Given the description of an element on the screen output the (x, y) to click on. 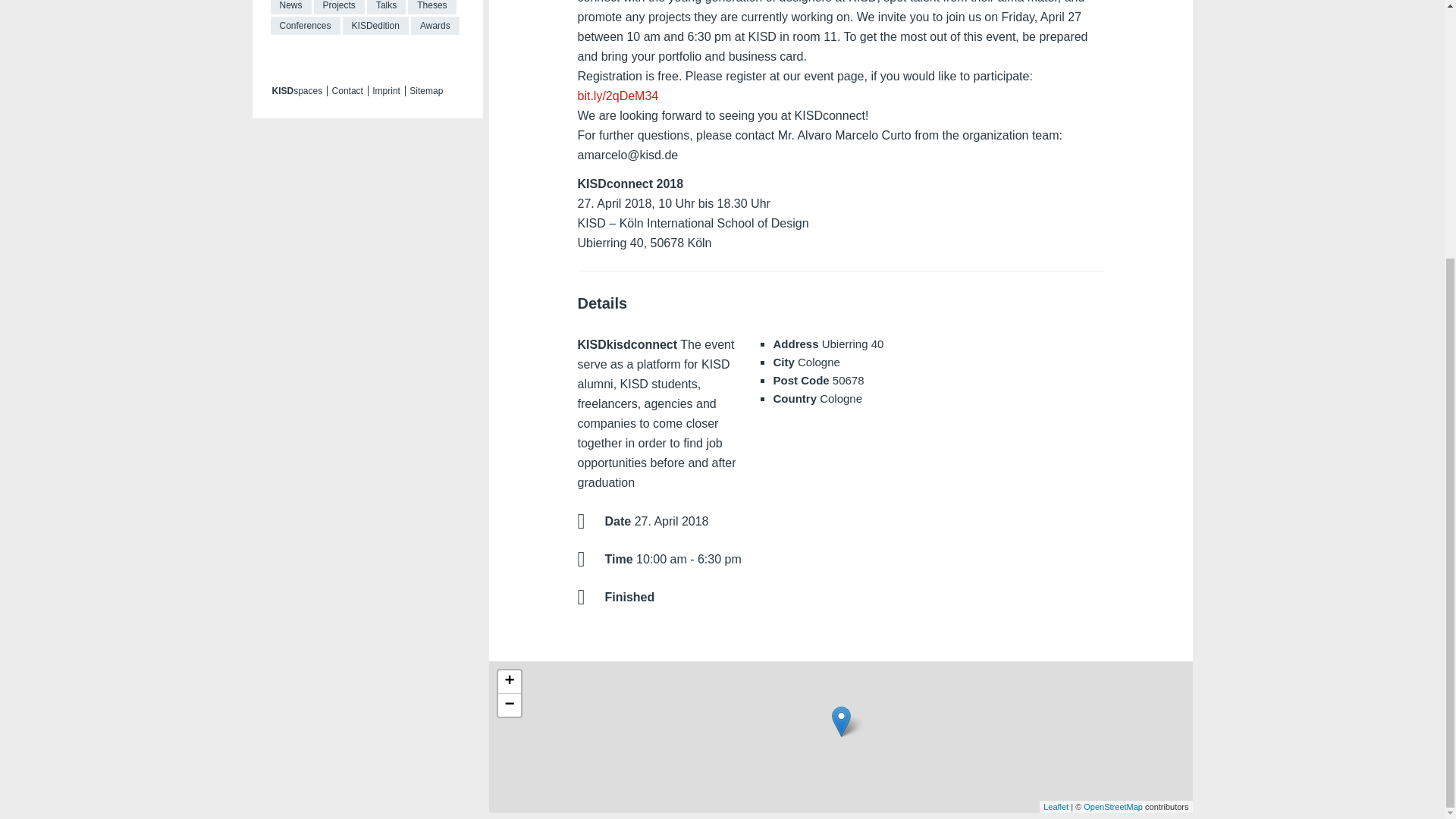
Imprint (386, 90)
Talks (386, 7)
Sitemap (425, 90)
Conferences (304, 25)
Contact (347, 90)
Projects (339, 7)
News (290, 7)
Theses (431, 7)
KISDedition (375, 25)
Awards (435, 25)
KISDspaces (296, 90)
